Given the description of an element on the screen output the (x, y) to click on. 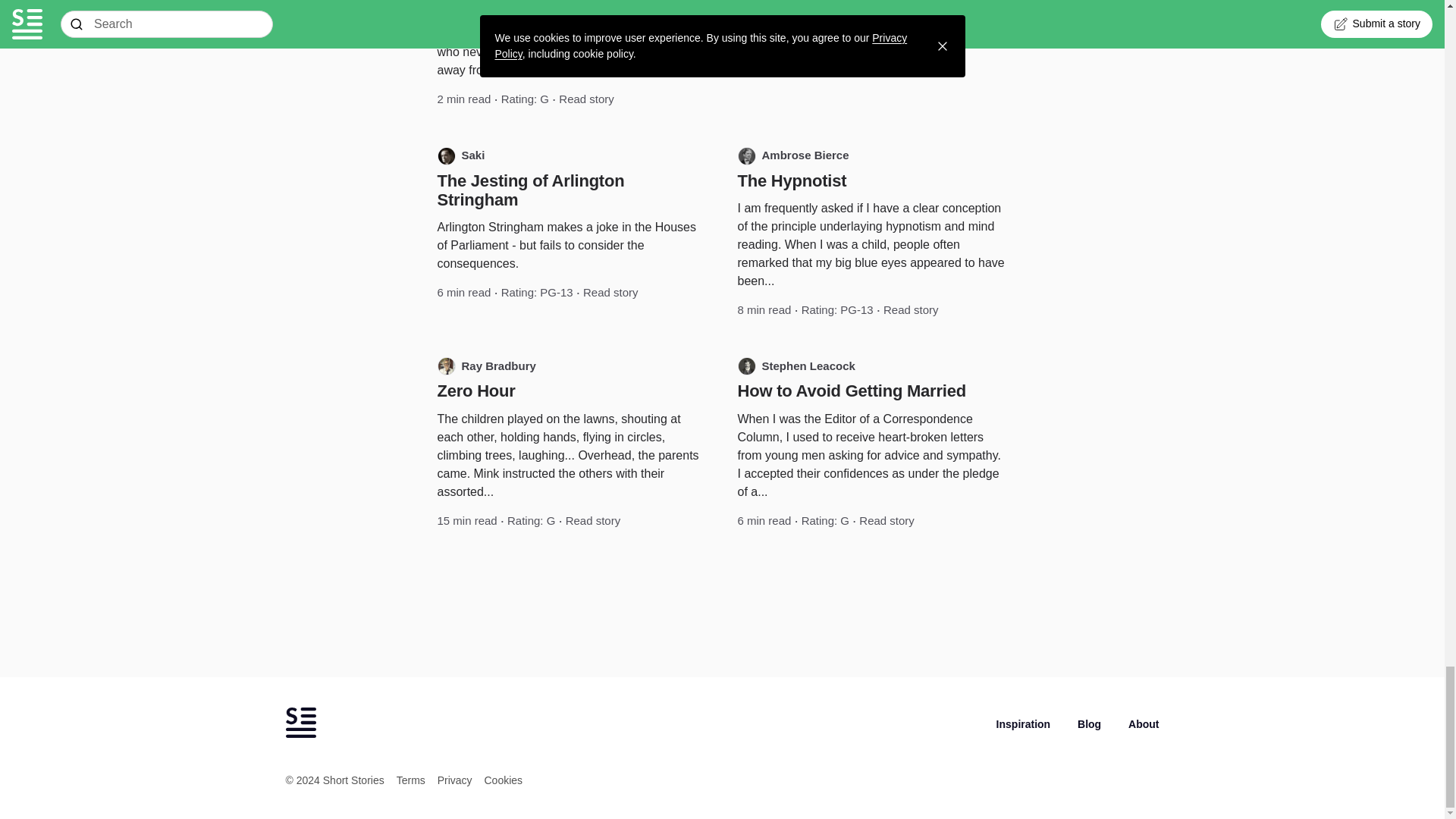
Short Stories (300, 722)
2 min read (463, 99)
Read story (586, 99)
